Given the description of an element on the screen output the (x, y) to click on. 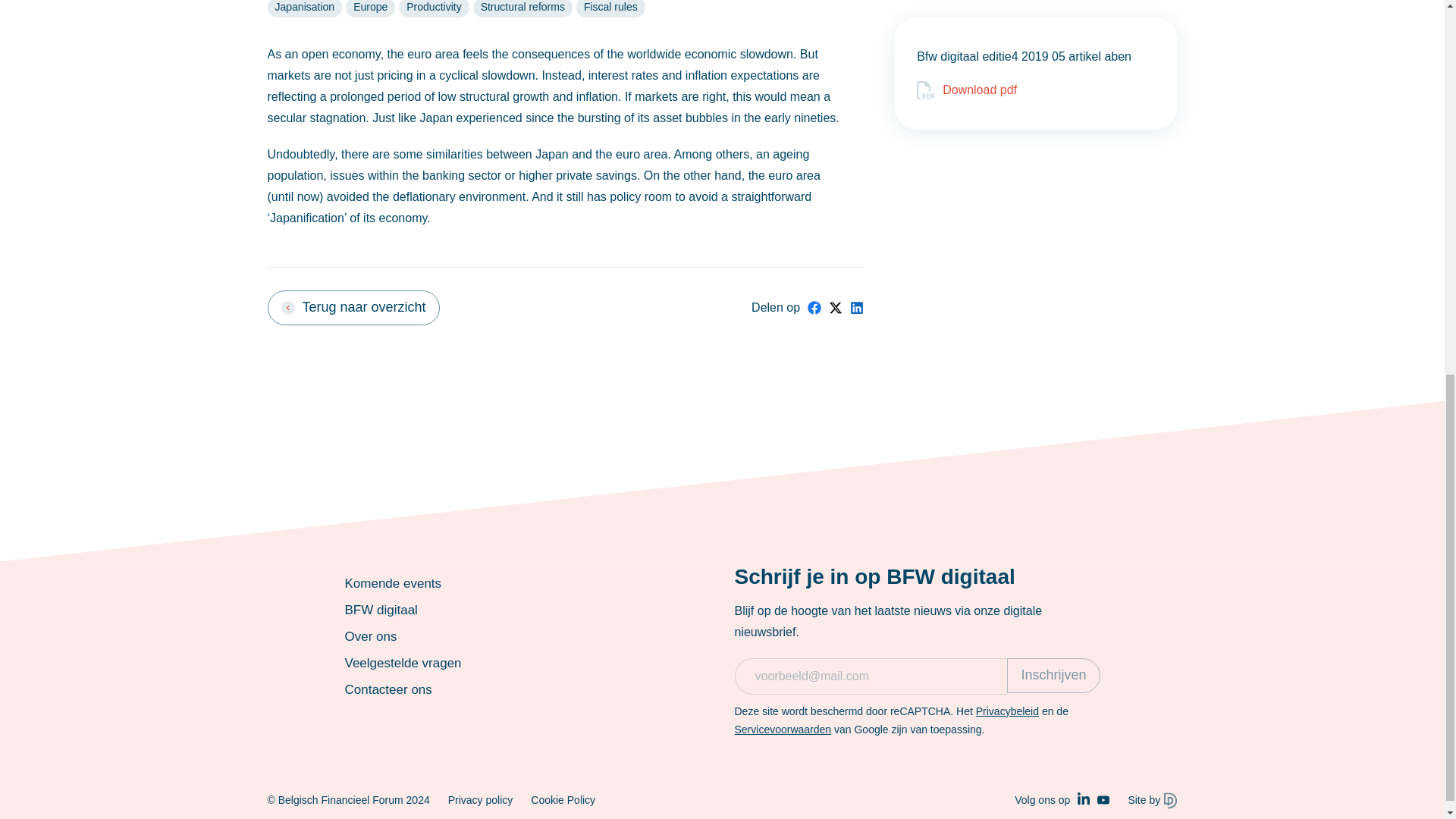
Inschrijven (1053, 675)
Cookie Policy (563, 799)
Facebook (814, 307)
Veelgestelde vragen (402, 663)
BFW digitaal (379, 610)
Contacteer ons (386, 689)
YouTube (1103, 799)
Site by (1151, 800)
Privacy policy (480, 799)
Privacybeleid (1007, 711)
